Given the description of an element on the screen output the (x, y) to click on. 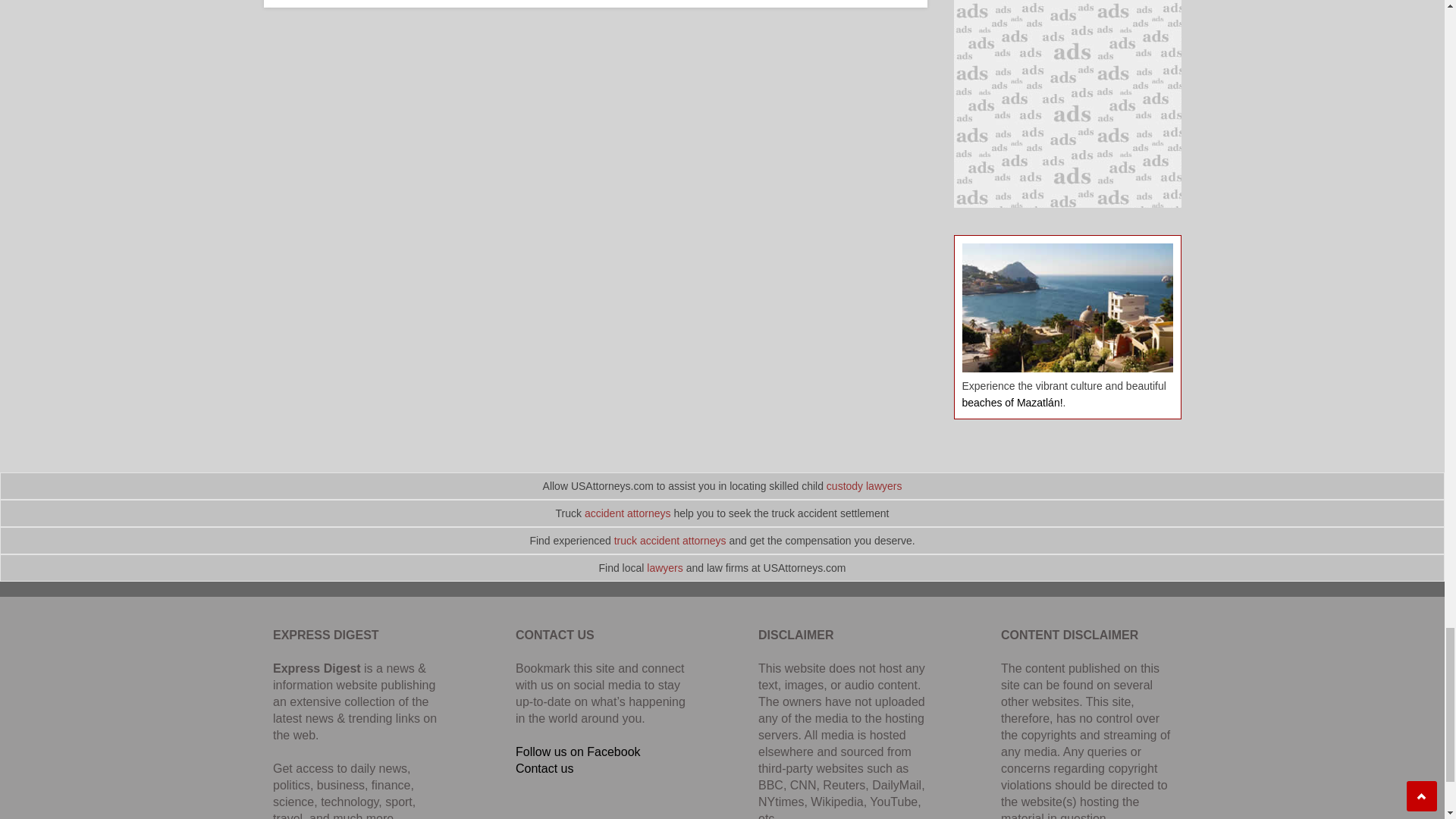
lawyers (664, 567)
truck accident attorneys (670, 540)
custody lawyers (864, 485)
accident attorneys (628, 512)
